Given the description of an element on the screen output the (x, y) to click on. 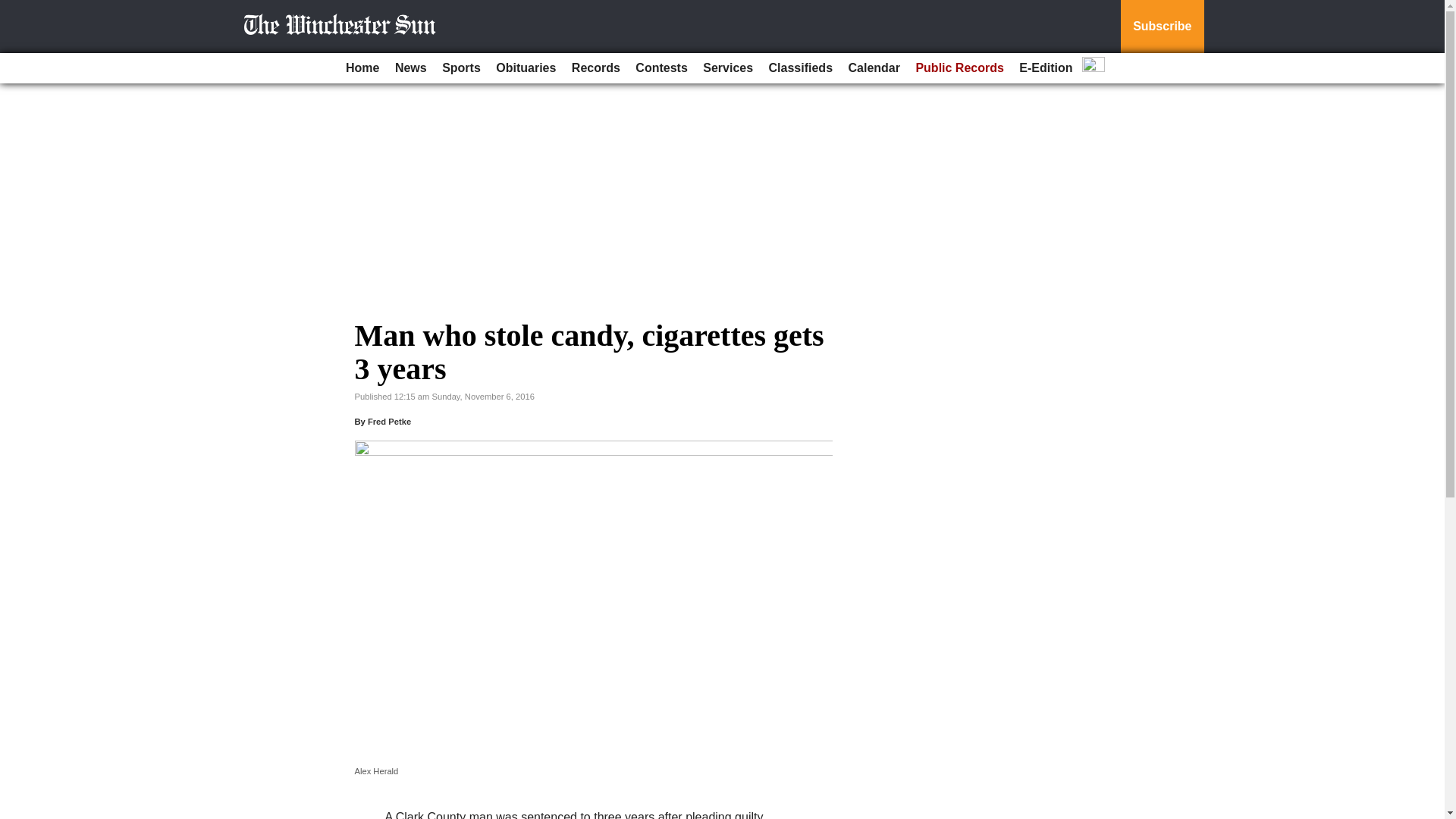
Go (13, 9)
News (410, 68)
Calendar (873, 68)
Home (362, 68)
Contests (660, 68)
Obituaries (525, 68)
Classifieds (800, 68)
Fred Petke (389, 420)
Services (727, 68)
E-Edition (1045, 68)
